Given the description of an element on the screen output the (x, y) to click on. 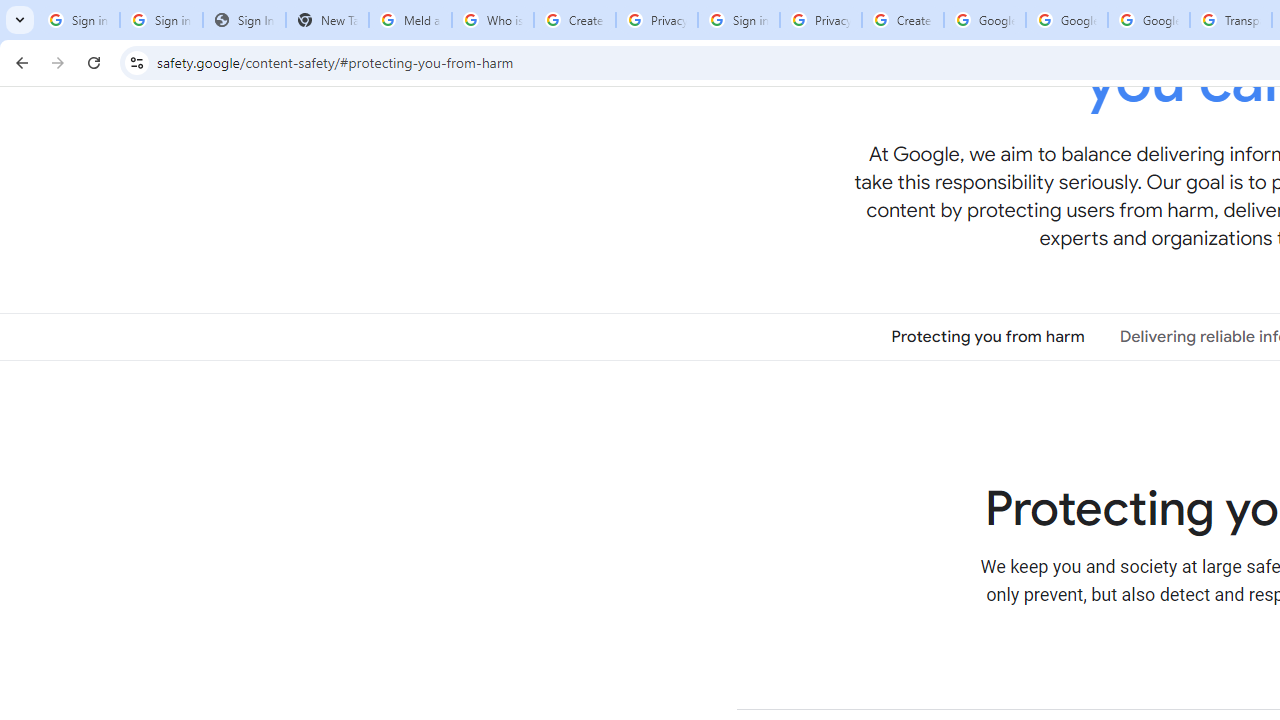
Who is my administrator? - Google Account Help (492, 20)
Protecting you from harm (987, 336)
New Tab (326, 20)
